Given the description of an element on the screen output the (x, y) to click on. 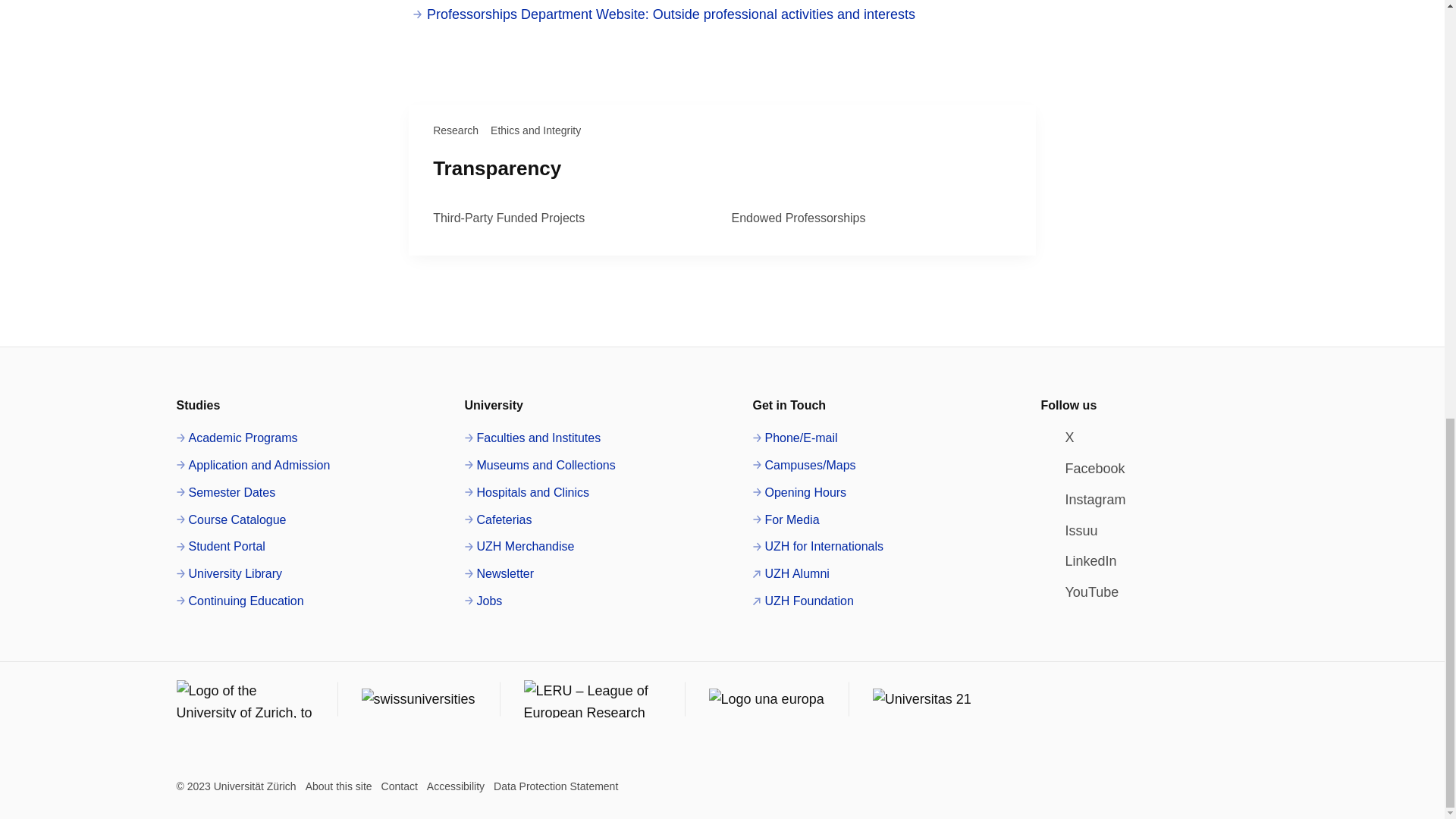
Museums and Collections (539, 465)
Newsletter (499, 573)
UZH Alumni (790, 573)
Opening Hours (798, 492)
Course Catalogue (230, 519)
Academic Programs (236, 437)
Semester Dates (225, 492)
Jobs (483, 600)
Application and Admission (253, 465)
University Library (229, 573)
